Given the description of an element on the screen output the (x, y) to click on. 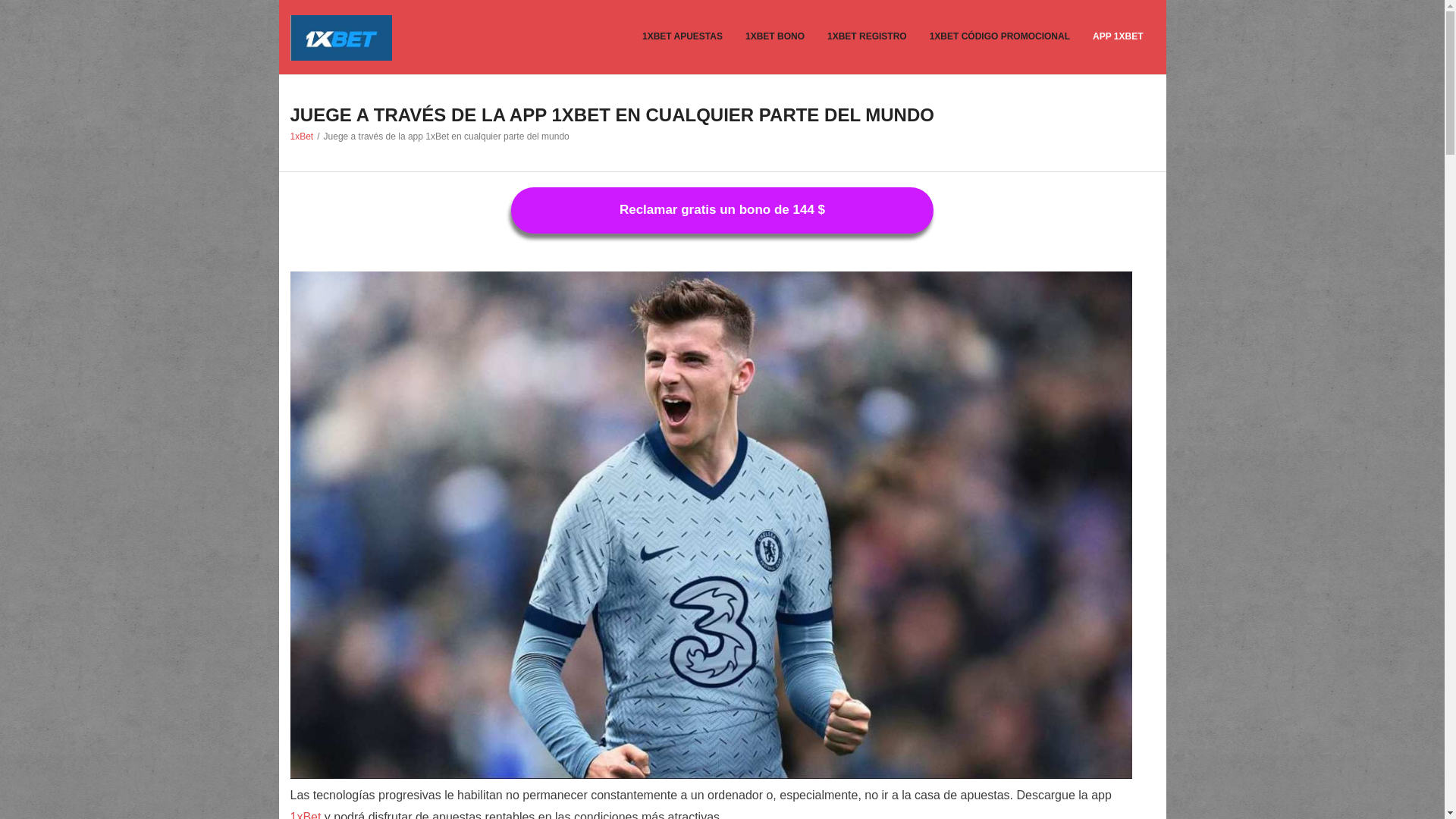
APP 1XBET Element type: text (1117, 37)
1XBET APUESTAS Element type: text (682, 37)
1xBet Element type: text (301, 136)
1XBET REGISTRO Element type: text (866, 37)
1XBET BONO Element type: text (774, 37)
Reclamar gratis un bono de 144 $ Element type: text (722, 210)
